Given the description of an element on the screen output the (x, y) to click on. 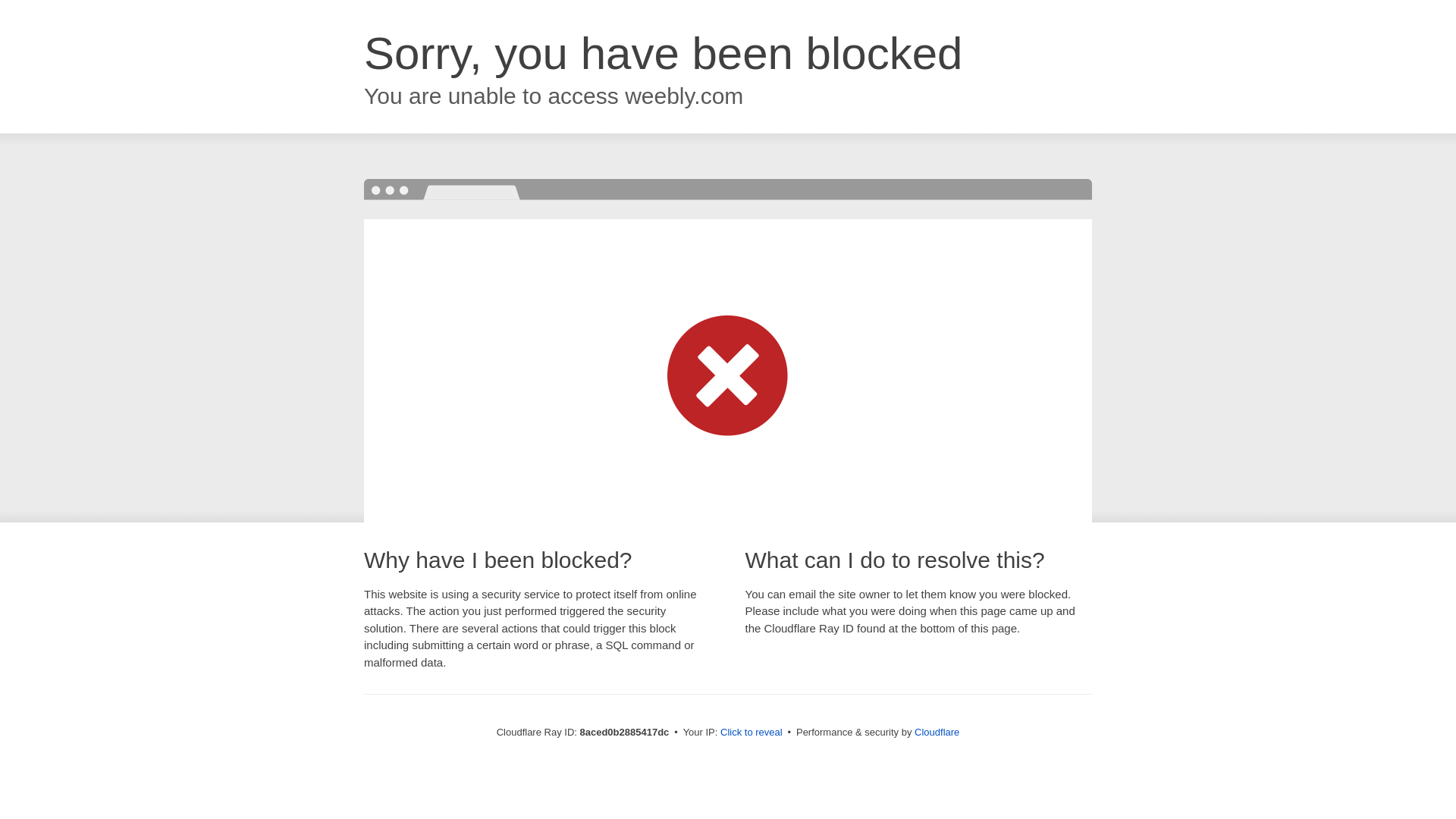
Click to reveal (751, 732)
Cloudflare (936, 731)
